Given the description of an element on the screen output the (x, y) to click on. 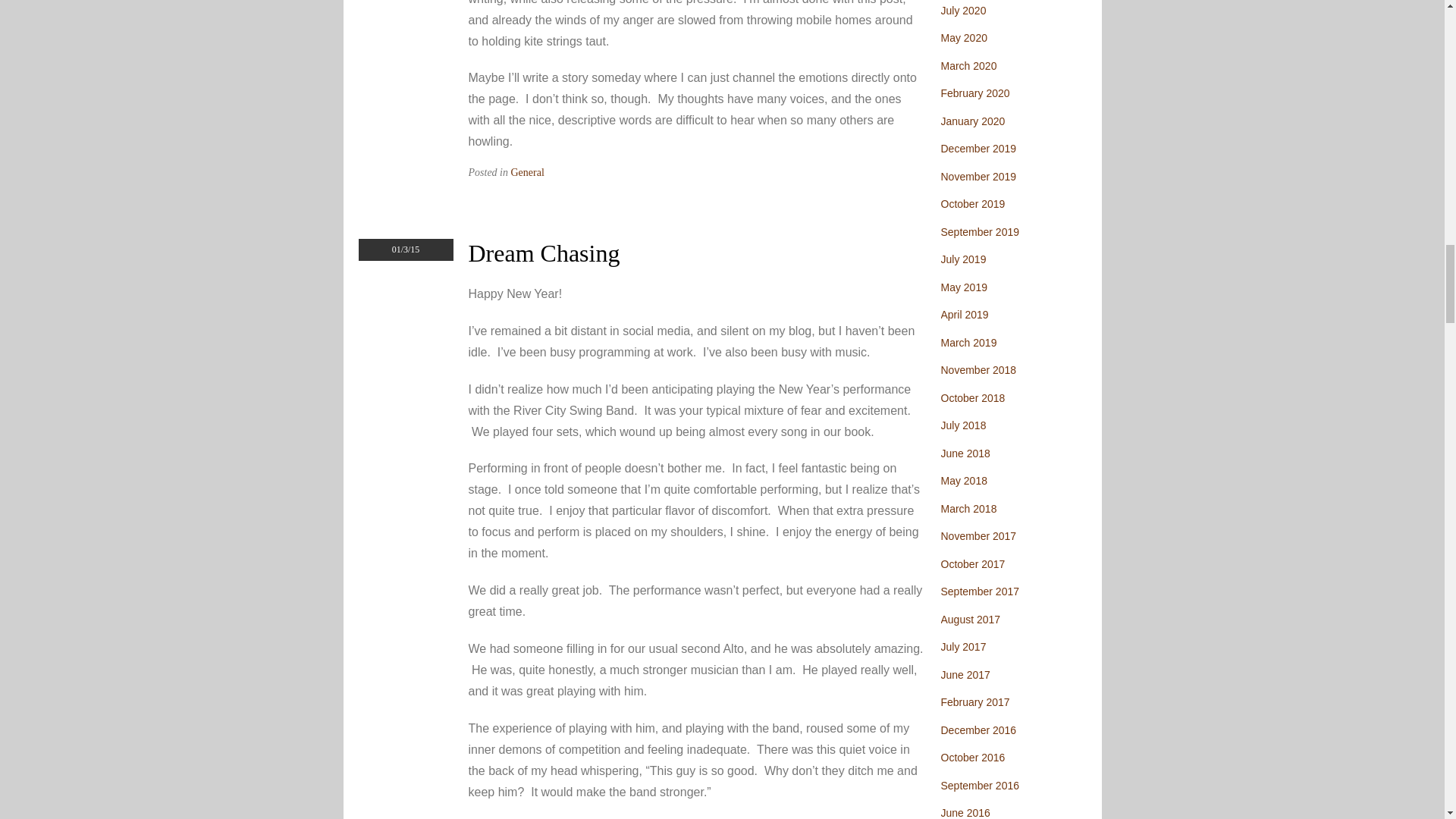
Permalink to Dream Chasing (544, 252)
Dream Chasing (544, 252)
General (527, 172)
